Given the description of an element on the screen output the (x, y) to click on. 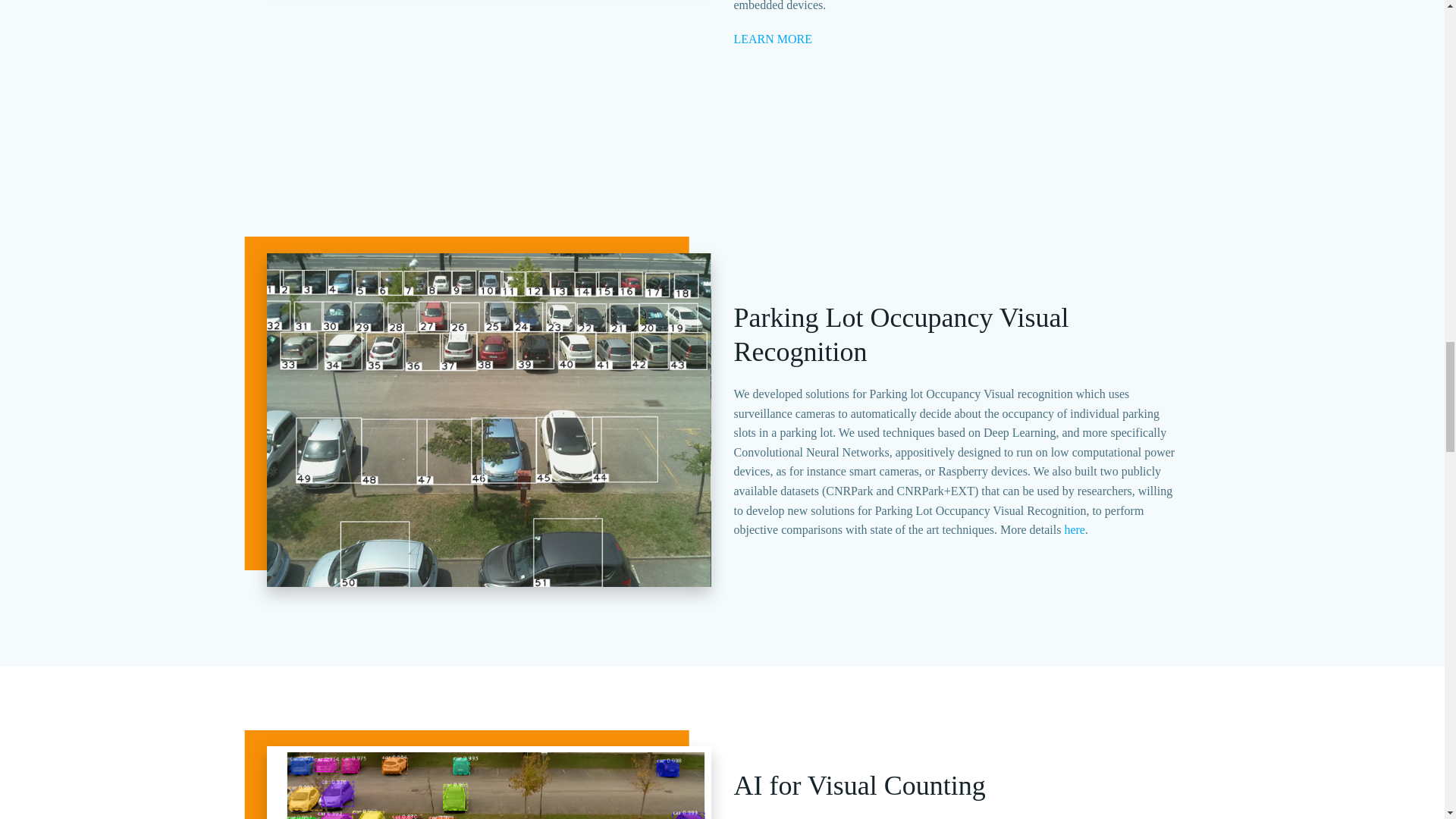
here (1074, 529)
LEARN MORE (772, 39)
